Given the description of an element on the screen output the (x, y) to click on. 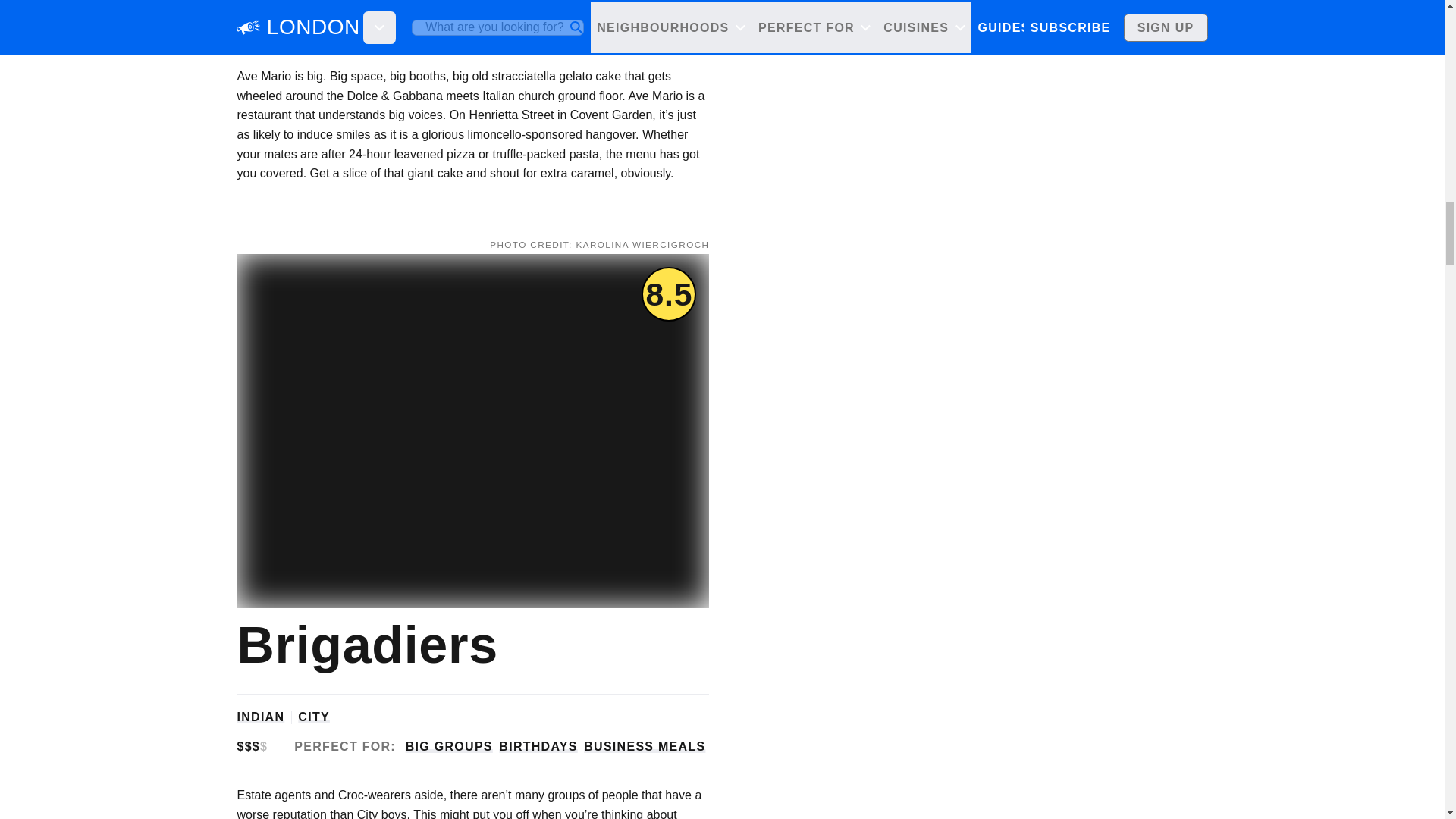
BIG GROUPS (449, 746)
Brigadiers (363, 644)
BIG GROUPS (449, 27)
BIRTHDAYS (537, 27)
DATE NIGHTS (629, 27)
CITY (314, 716)
COVENT GARDEN (363, 2)
BUSINESS MEALS (643, 746)
INDIAN (259, 716)
BIRTHDAYS (537, 746)
ITALIAN (262, 2)
